Given the description of an element on the screen output the (x, y) to click on. 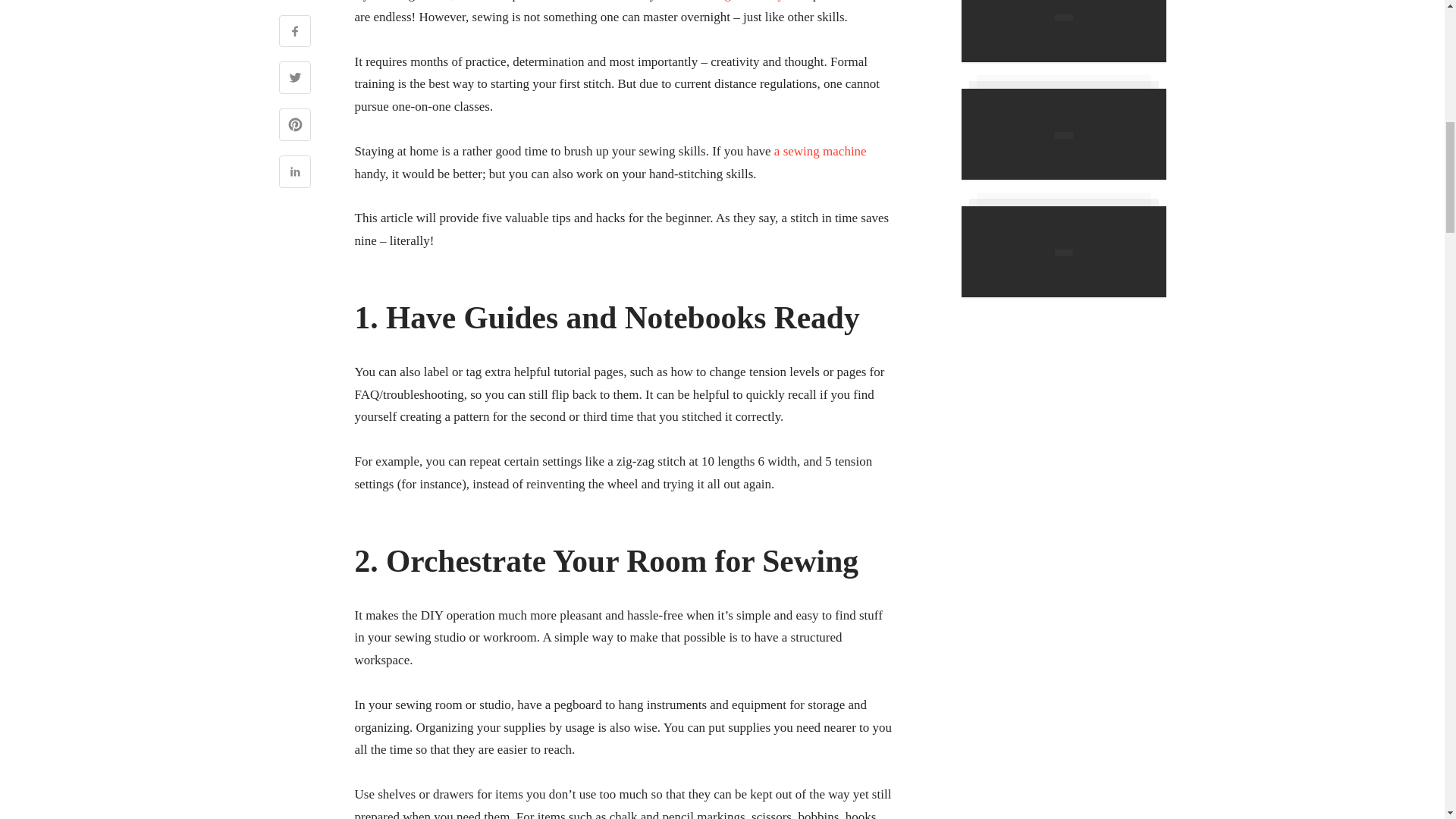
Share on Facebook (295, 33)
Share on Pinterest (295, 126)
Share on Linkedin (295, 173)
a sewing machine (820, 151)
make things of utility (727, 0)
Share on Twitter (295, 79)
